Given the description of an element on the screen output the (x, y) to click on. 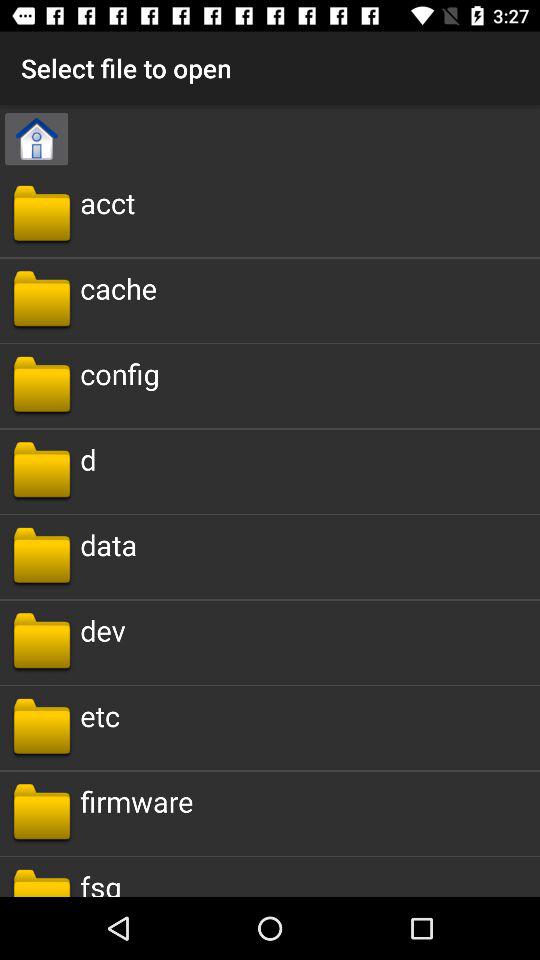
flip to cache app (118, 287)
